Given the description of an element on the screen output the (x, y) to click on. 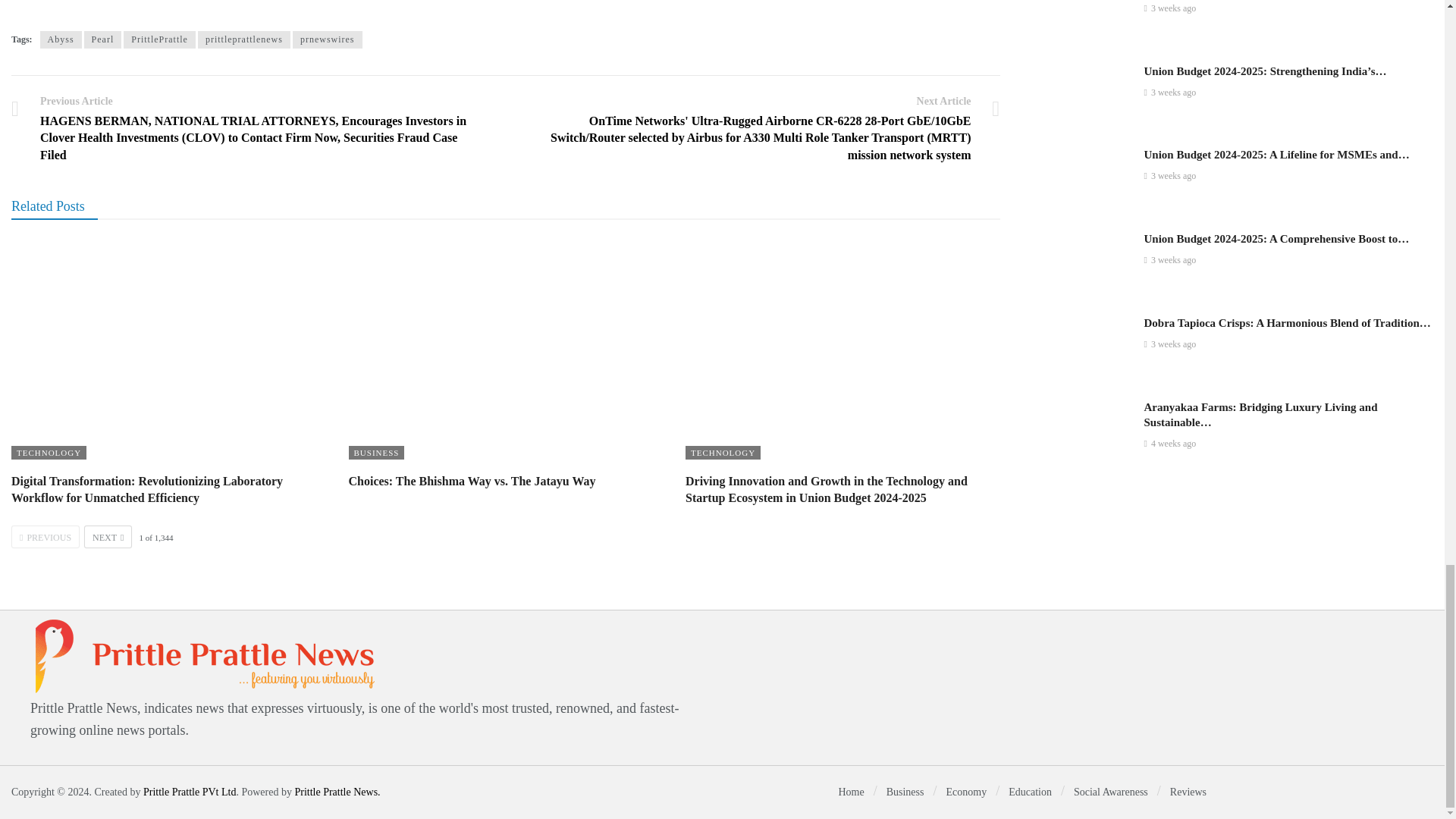
Next (108, 536)
Choices: The Bhishma Way vs. The Jatayu Way (506, 349)
Previous (45, 536)
Choices: The Bhishma Way vs. The Jatayu Way (472, 481)
